Given the description of an element on the screen output the (x, y) to click on. 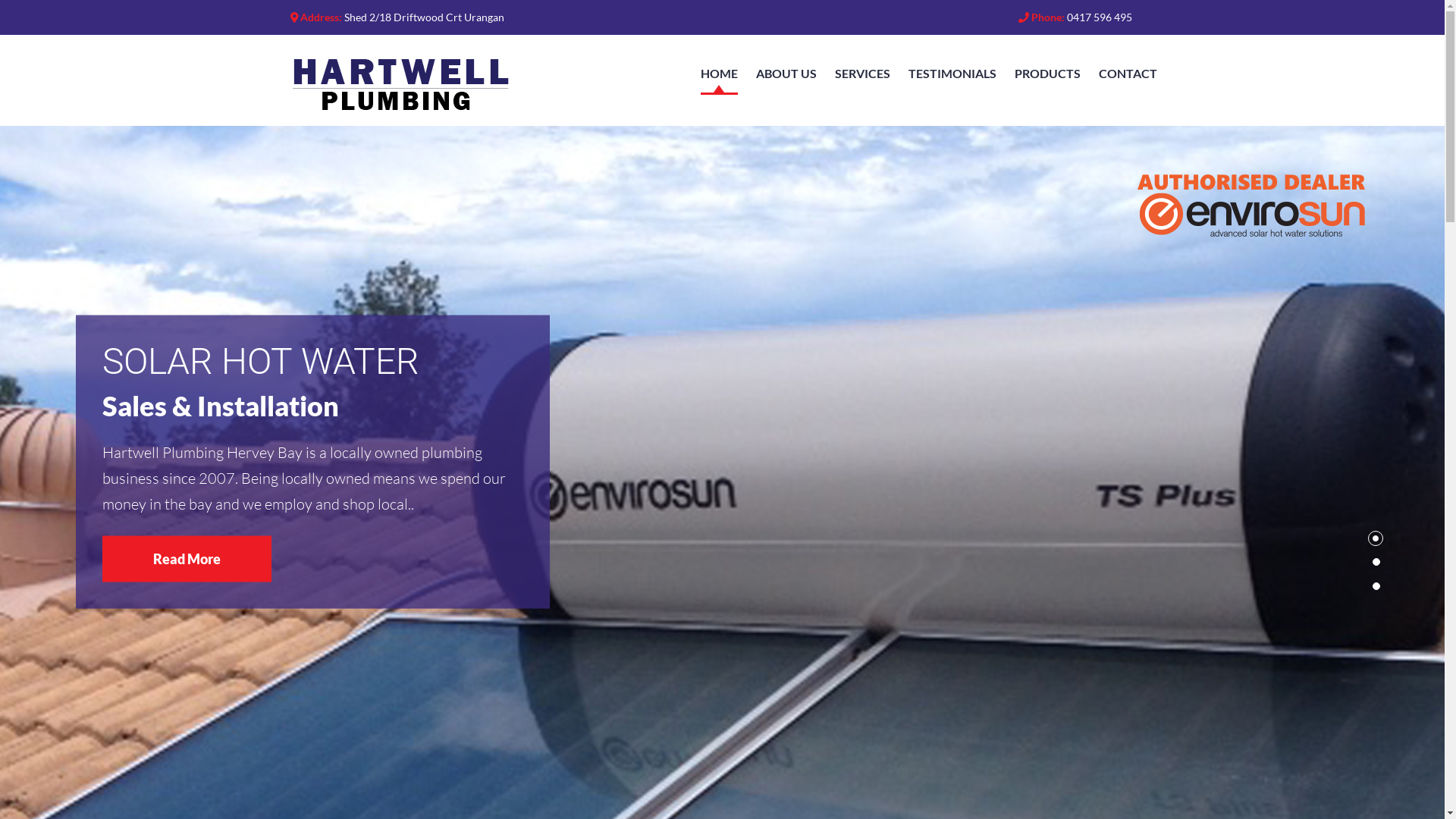
HOME Element type: text (718, 74)
Read More Element type: text (186, 559)
CONTACT Element type: text (1127, 73)
0417 596 495 Element type: text (1098, 16)
TESTIMONIALS Element type: text (952, 73)
PRODUCTS Element type: text (1047, 73)
ABOUT US Element type: text (785, 73)
SERVICES Element type: text (861, 73)
